Given the description of an element on the screen output the (x, y) to click on. 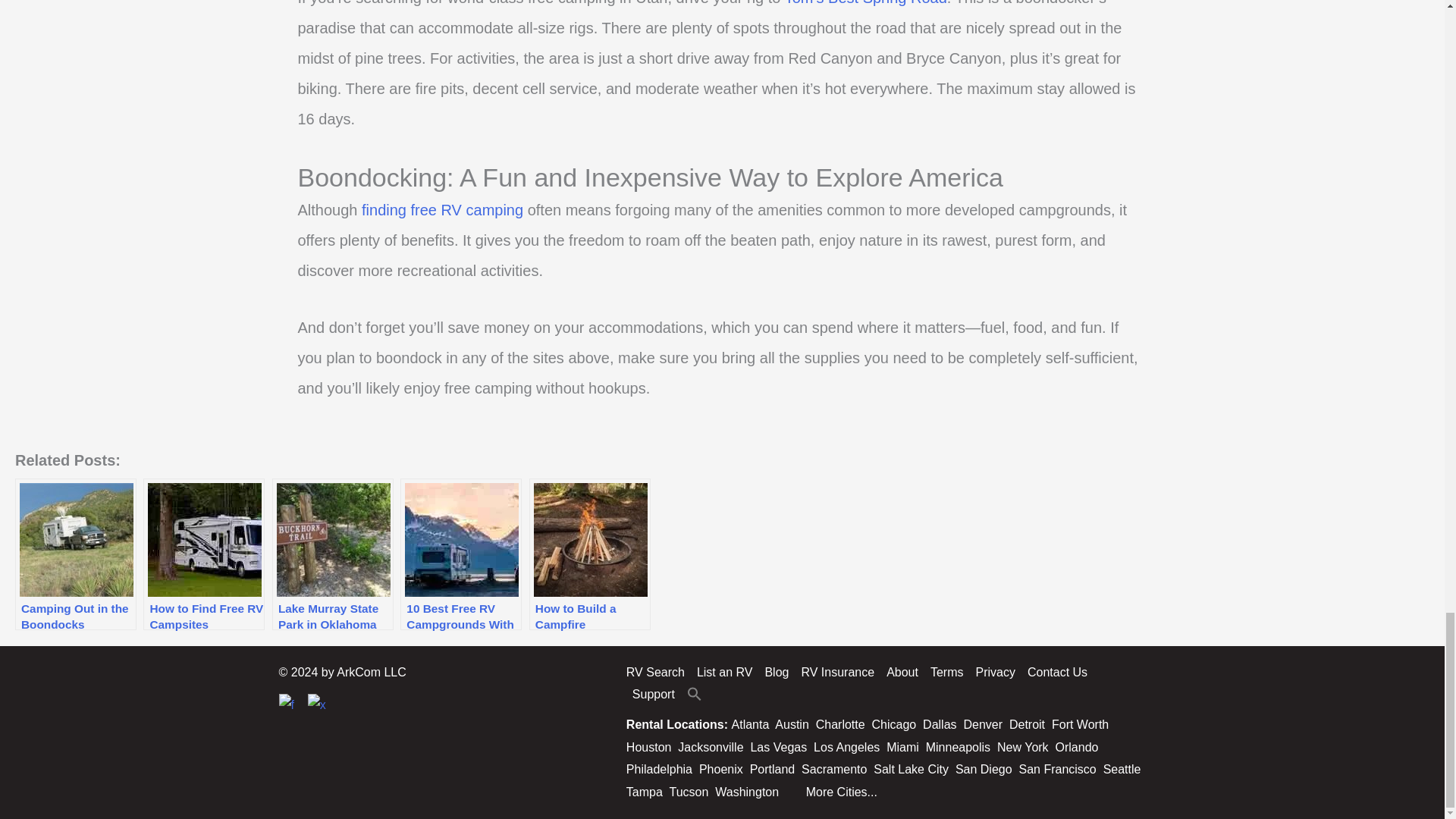
Atlanta RV Rental (751, 724)
finding free RV camping (441, 209)
About (902, 671)
Denver RV Rental (982, 724)
Detroit RV Rental (1027, 724)
Houston RV Rental (648, 747)
Dallas RV Rental (939, 724)
RV Insurance (837, 671)
Blog (776, 671)
Austin RV Rental (791, 724)
